Given the description of an element on the screen output the (x, y) to click on. 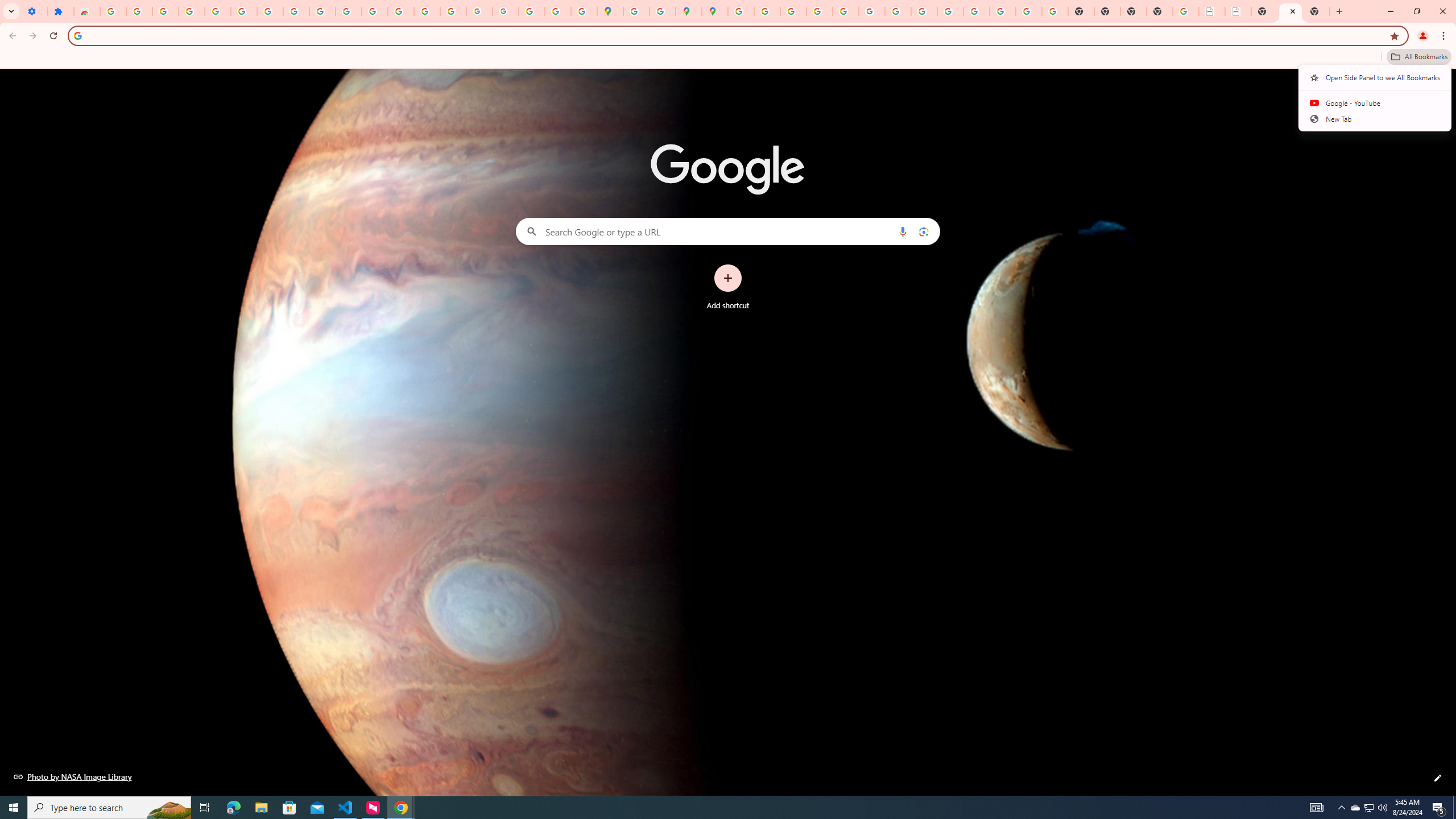
https://scholar.google.com/ (374, 11)
Photo by NASA Image Library (72, 776)
Google Account (296, 11)
Search by voice (902, 230)
Settings - On startup (34, 11)
